Given the description of an element on the screen output the (x, y) to click on. 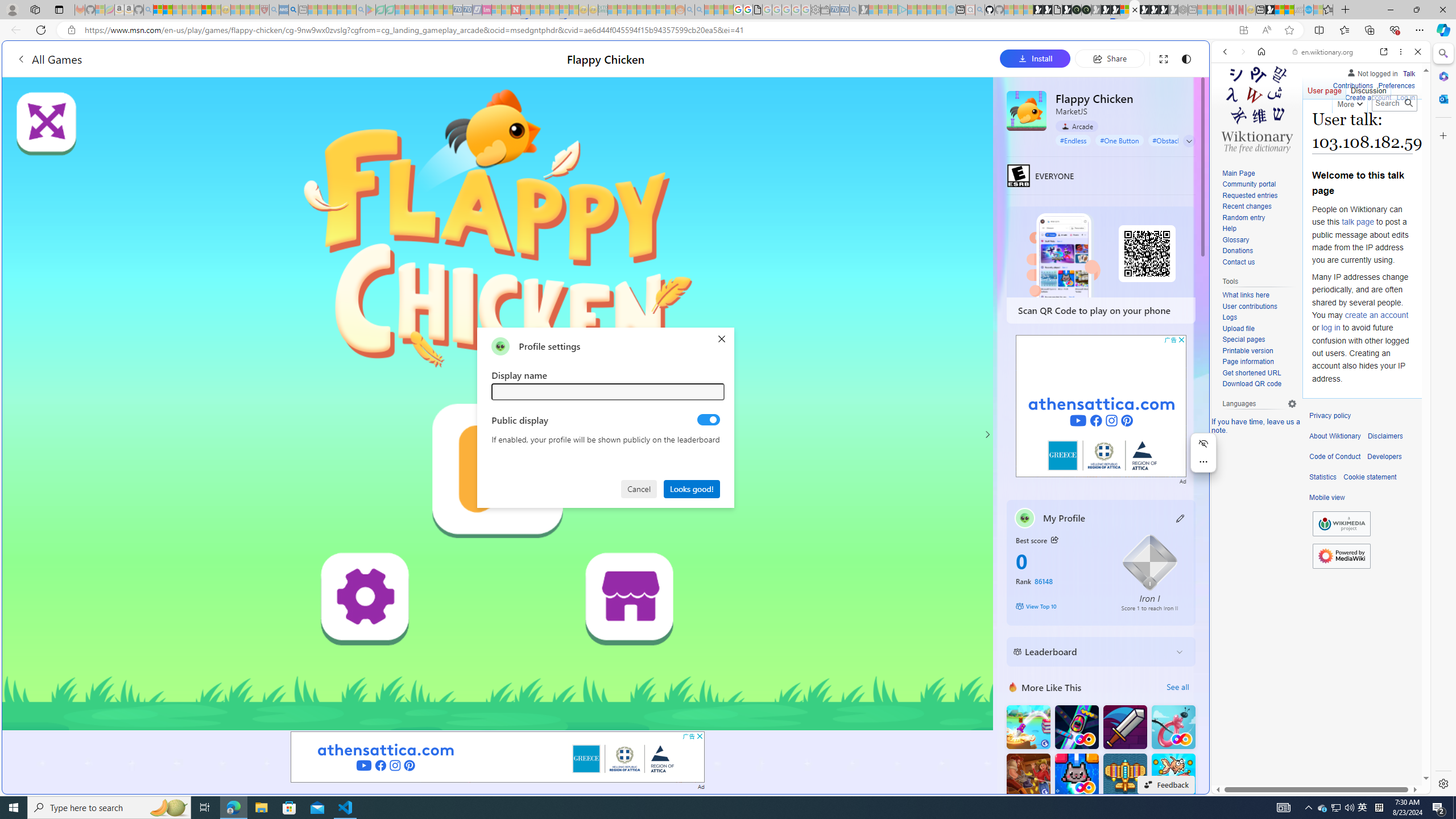
Search Wiktionary (1393, 103)
AutomationID: footer-copyrightico (1341, 523)
Advertisement (1101, 405)
See all (1177, 687)
Get shortened URL (1251, 372)
Visit the main page (1257, 108)
#One Button (1119, 140)
This site scope (1259, 102)
Class: button (1053, 539)
